Given the description of an element on the screen output the (x, y) to click on. 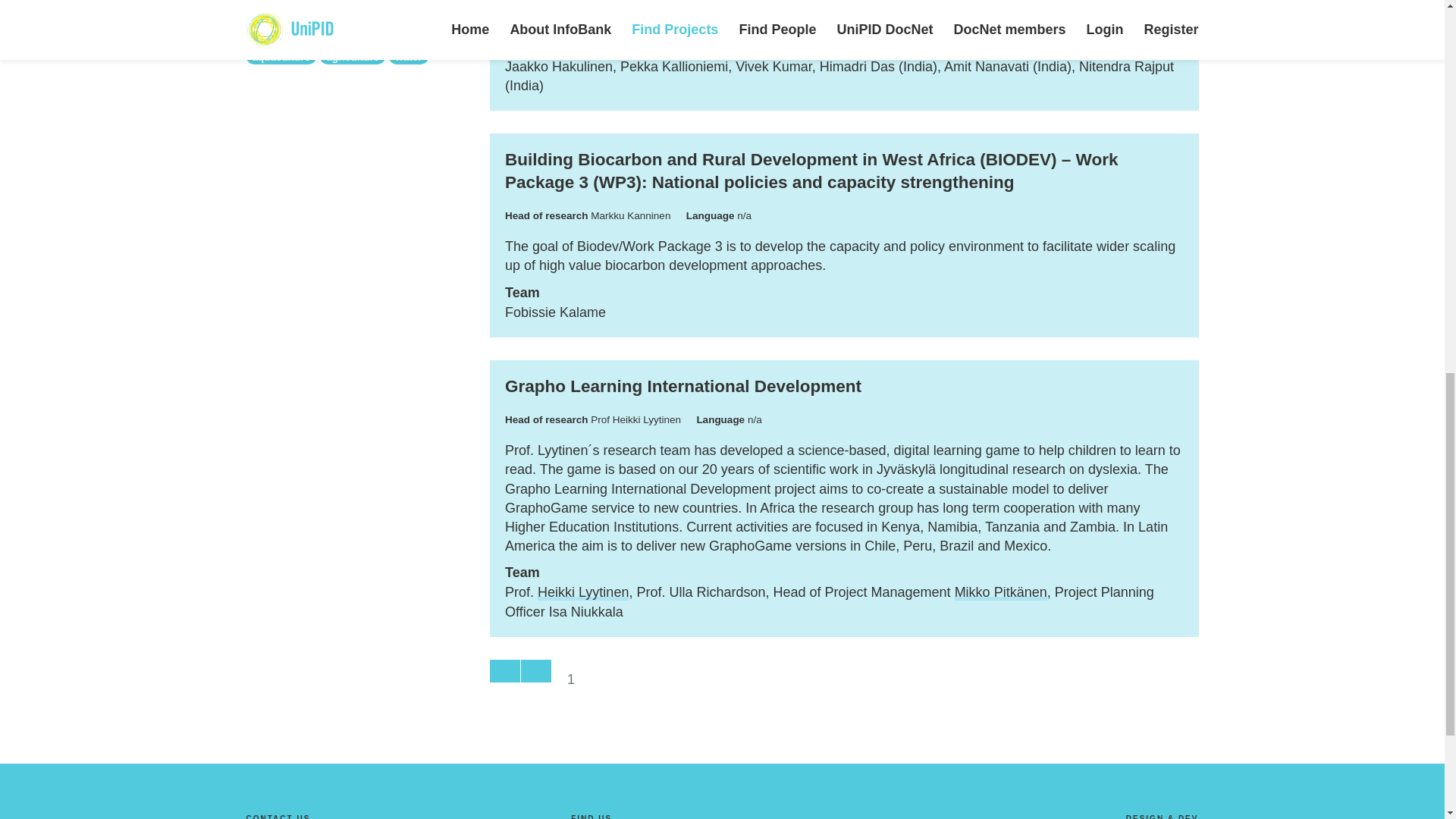
Finland (335, 1)
Education (276, 1)
Sustainability (403, 1)
